Given the description of an element on the screen output the (x, y) to click on. 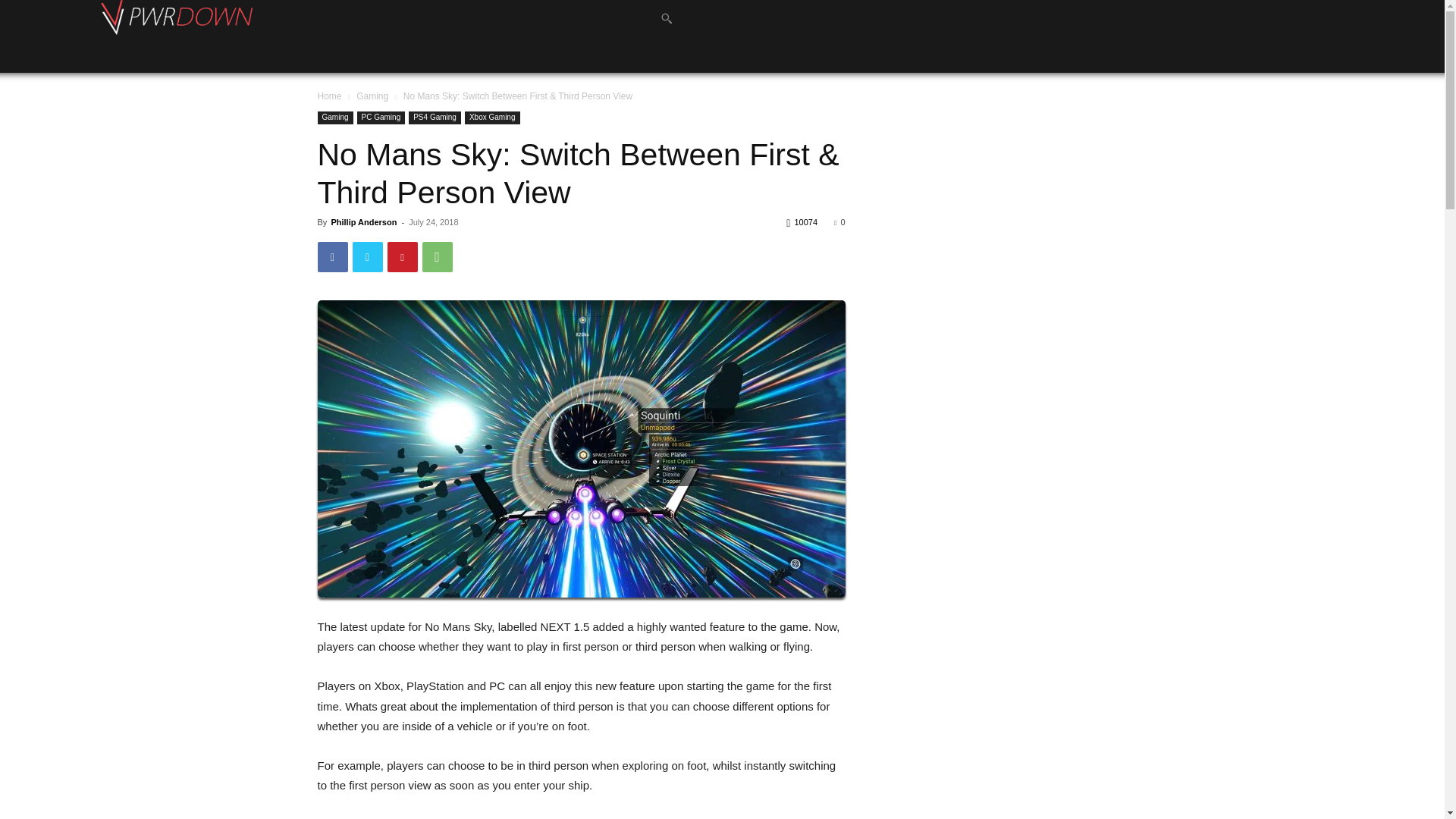
Pinterest (401, 256)
View all posts in Gaming (372, 95)
WhatsApp (436, 256)
Twitter (366, 256)
PwrDown Gaming Guides (175, 18)
Facebook (332, 256)
